Given the description of an element on the screen output the (x, y) to click on. 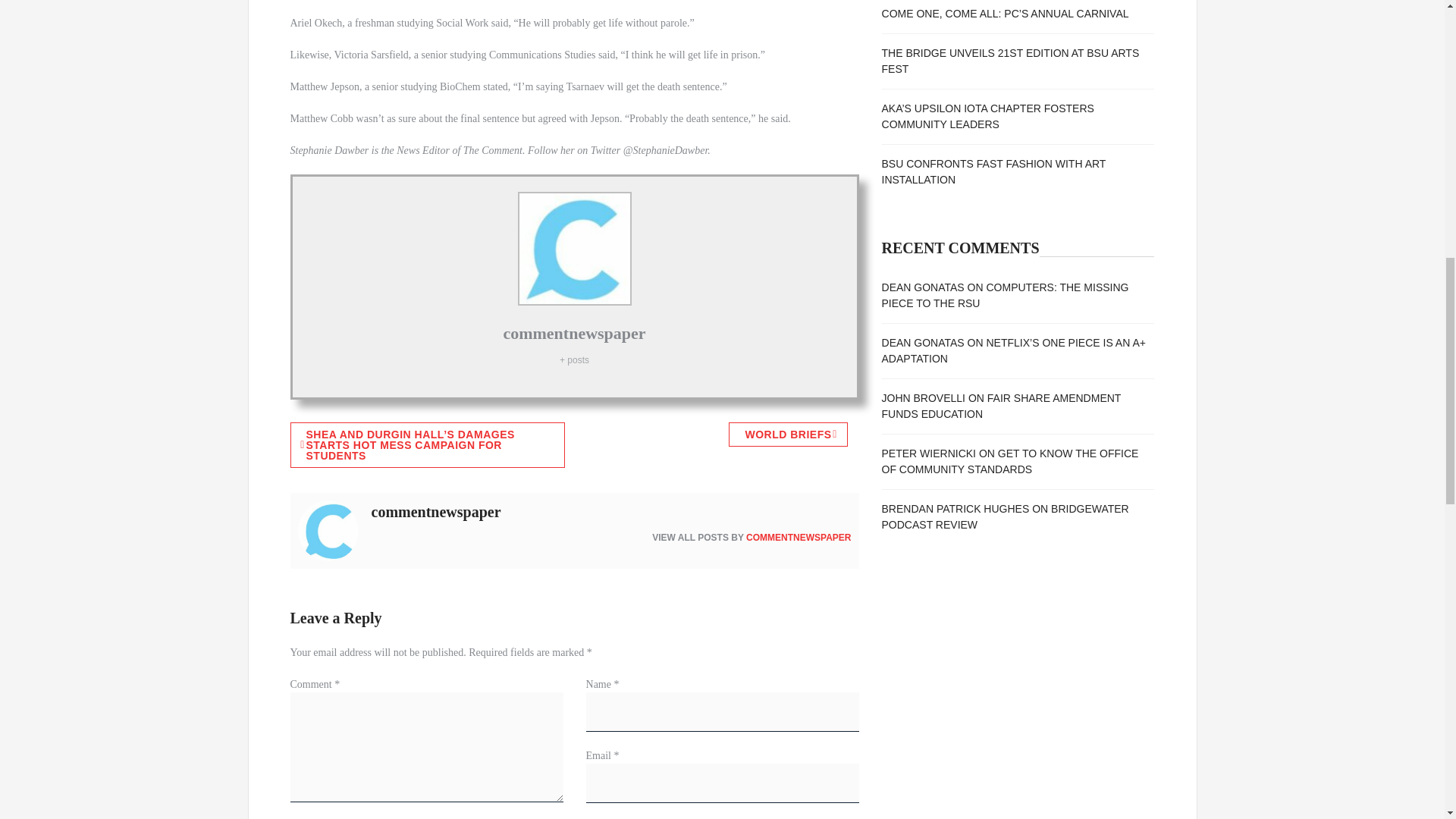
WORLD BRIEFS (788, 434)
COMMENTNEWSPAPER (797, 537)
commentnewspaper (573, 333)
